Given the description of an element on the screen output the (x, y) to click on. 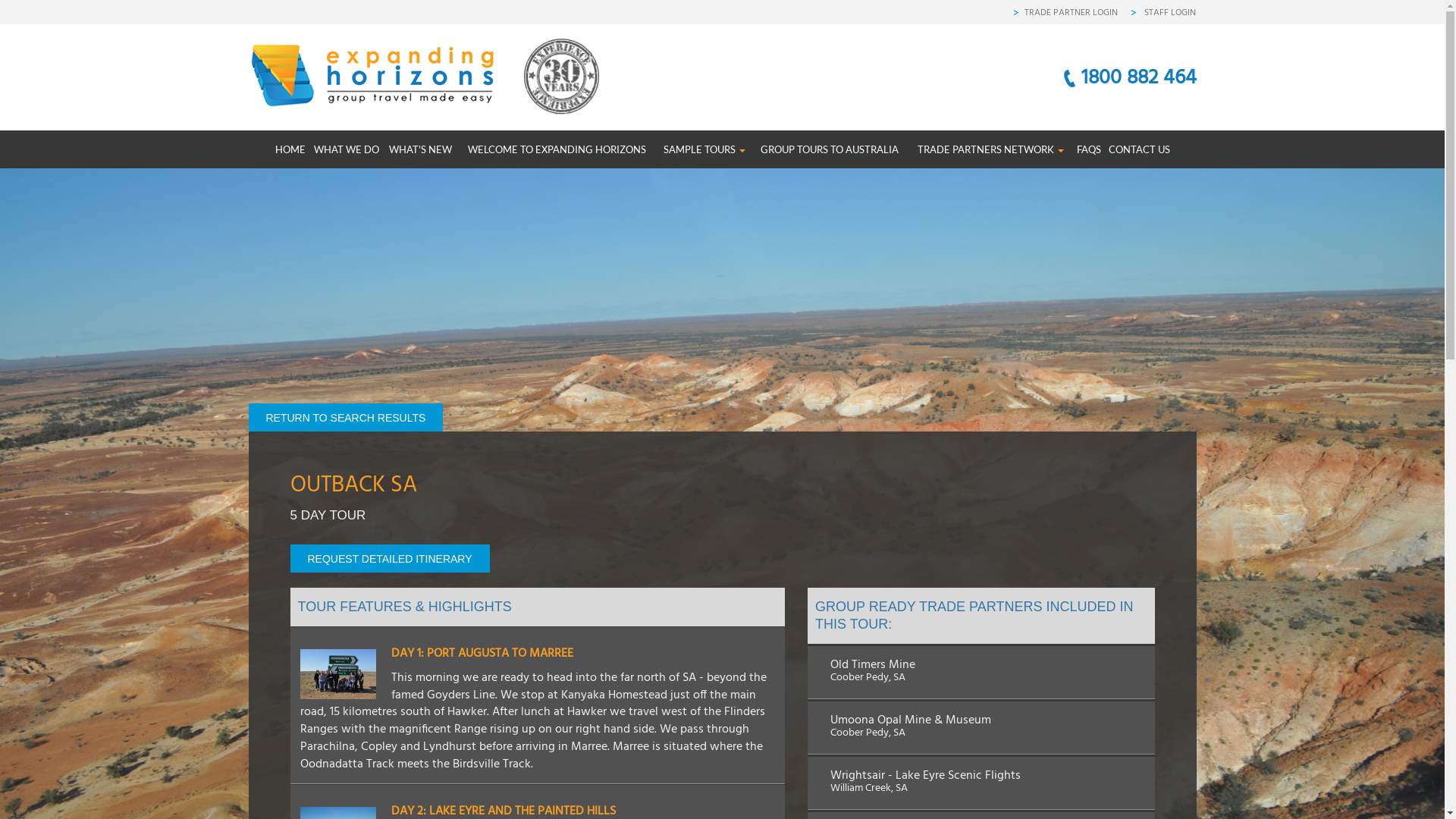
CONTACT US Element type: text (1137, 149)
RETURN TO SEARCH RESULTS Element type: text (345, 417)
STAFF LOGIN Element type: text (1168, 12)
HOME Element type: text (289, 149)
SAMPLE TOURS Element type: text (703, 149)
TRADE PARTNERS NETWORK Element type: text (989, 149)
TRADE PARTNER LOGIN Element type: text (1070, 12)
FAQS Element type: text (1087, 149)
WHAT'S NEW Element type: text (418, 149)
REQUEST DETAILED ITINERARY Element type: text (389, 558)
GROUP TOURS TO AUSTRALIA Element type: text (828, 149)
WELCOME TO EXPANDING HORIZONS Element type: text (555, 149)
WHAT WE DO Element type: text (344, 149)
